Given the description of an element on the screen output the (x, y) to click on. 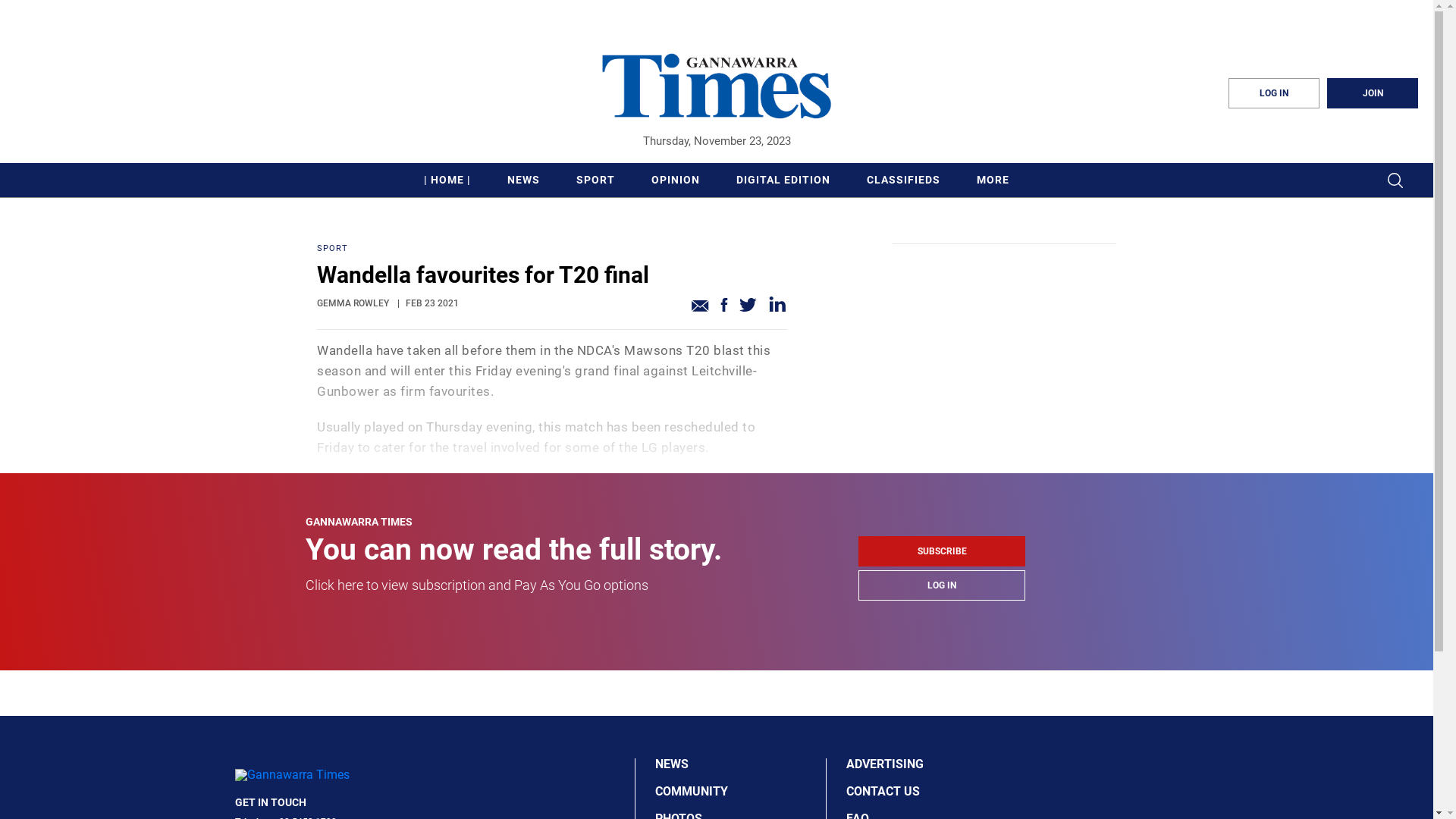
MORE Element type: text (992, 180)
CLASSIFIEDS Element type: text (903, 180)
OPINION Element type: text (675, 180)
| HOME | Element type: text (447, 180)
GEMMA ROWLEY Element type: text (352, 303)
SPORT Element type: text (595, 180)
SUBSCRIBE Element type: text (941, 551)
LOG IN Element type: text (941, 585)
DIGITAL EDITION Element type: text (783, 180)
NEWS Element type: text (523, 180)
COMMUNITY Element type: text (735, 791)
Click here to view subscription and Pay As You Go options Element type: text (476, 585)
NEWS Element type: text (735, 764)
JOIN Element type: text (1372, 93)
SPORT Element type: text (551, 248)
CONTACT US Element type: text (926, 791)
LOG IN Element type: text (1273, 93)
ADVERTISING Element type: text (926, 764)
